Given the description of an element on the screen output the (x, y) to click on. 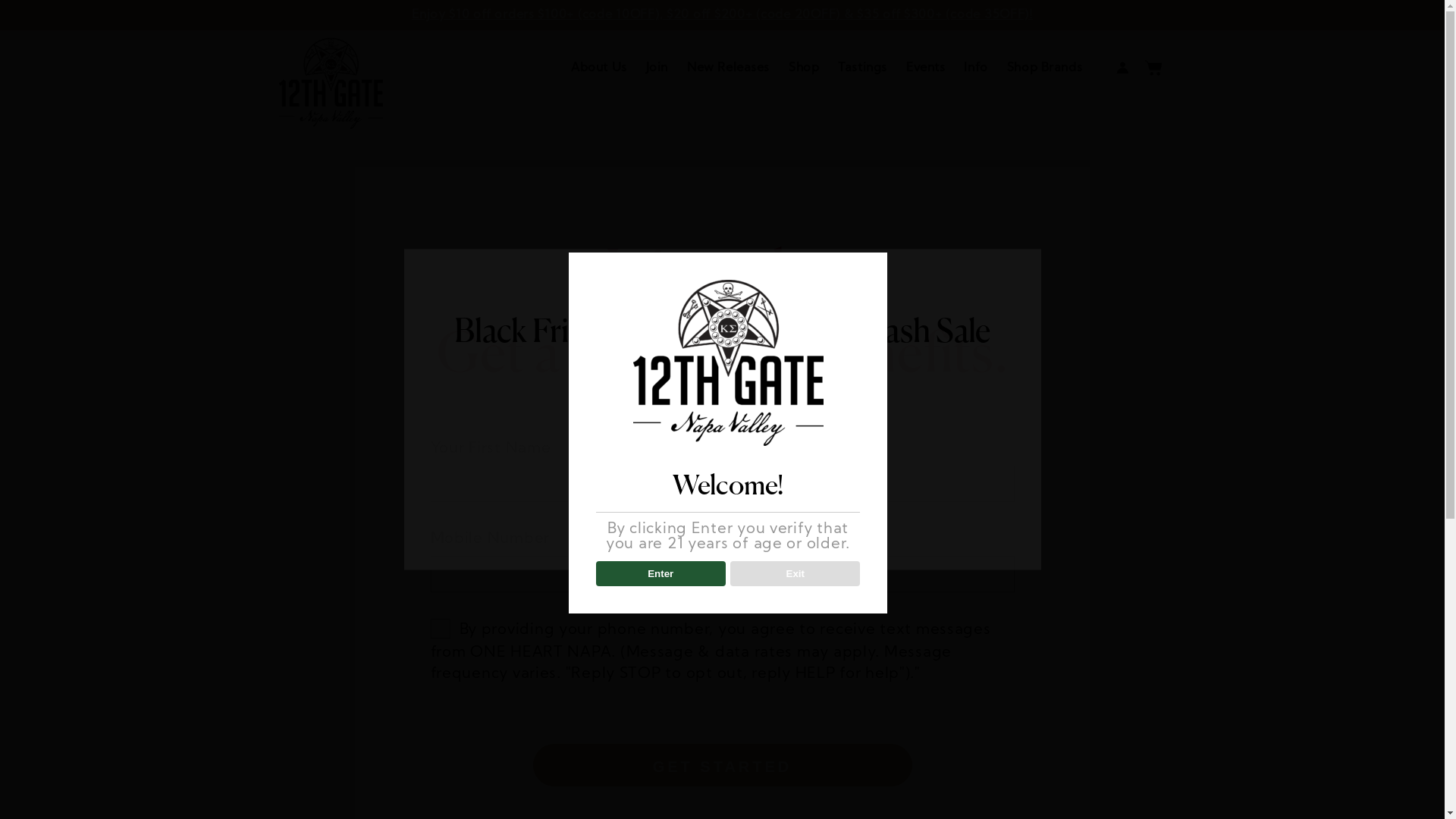
Join Element type: text (657, 68)
Events Element type: text (925, 68)
Tastings Element type: text (862, 68)
About Us Element type: text (599, 68)
Shop Element type: text (803, 68)
Shop Brands Element type: text (1044, 68)
Get Started Element type: text (721, 764)
Info Element type: text (975, 68)
New Releases Element type: text (728, 68)
Enter Element type: text (660, 573)
SHOP NOW Element type: text (722, 455)
Exit Element type: text (794, 573)
